Given the description of an element on the screen output the (x, y) to click on. 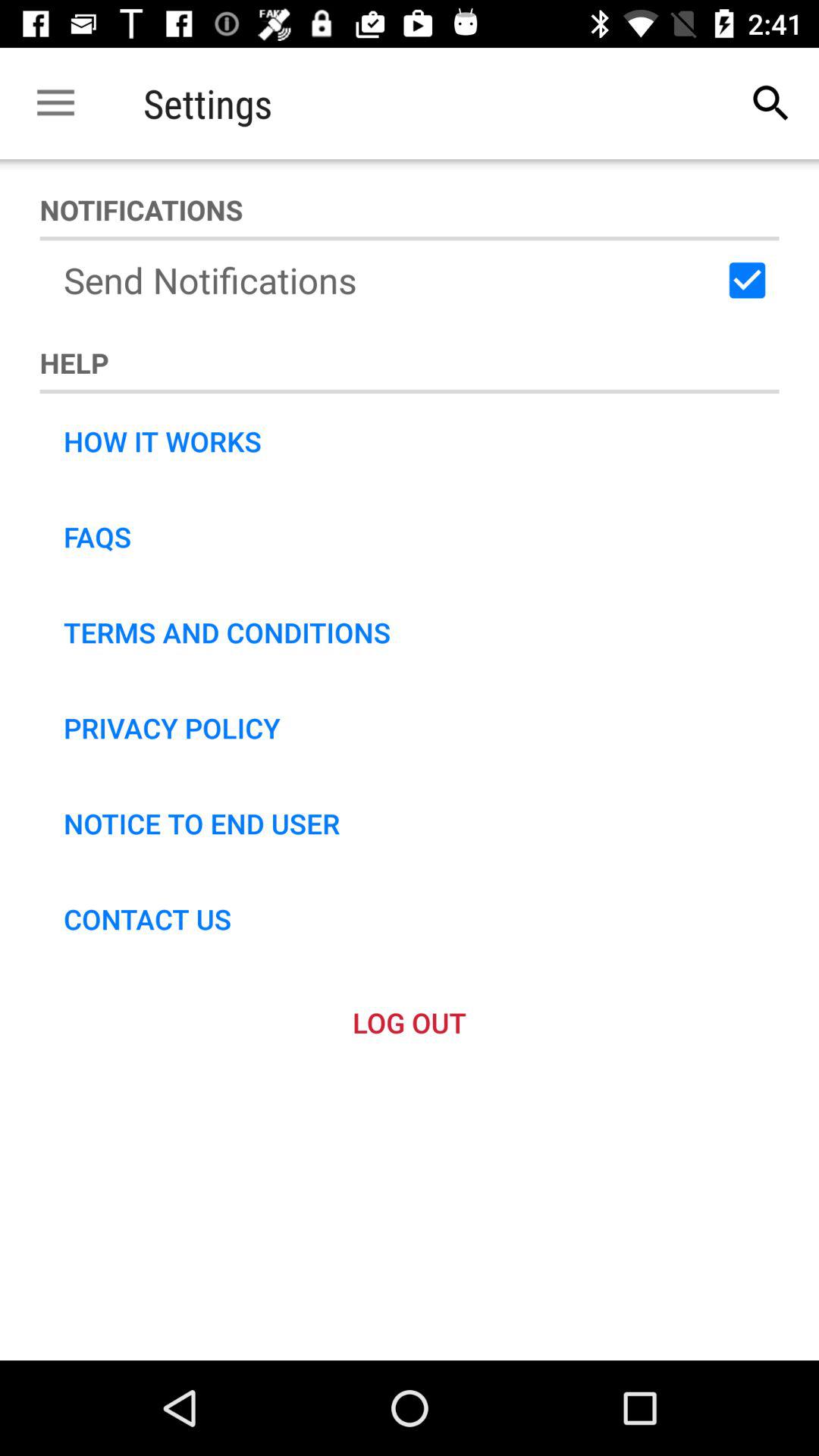
tap the icon to the left of the settings icon (55, 103)
